Given the description of an element on the screen output the (x, y) to click on. 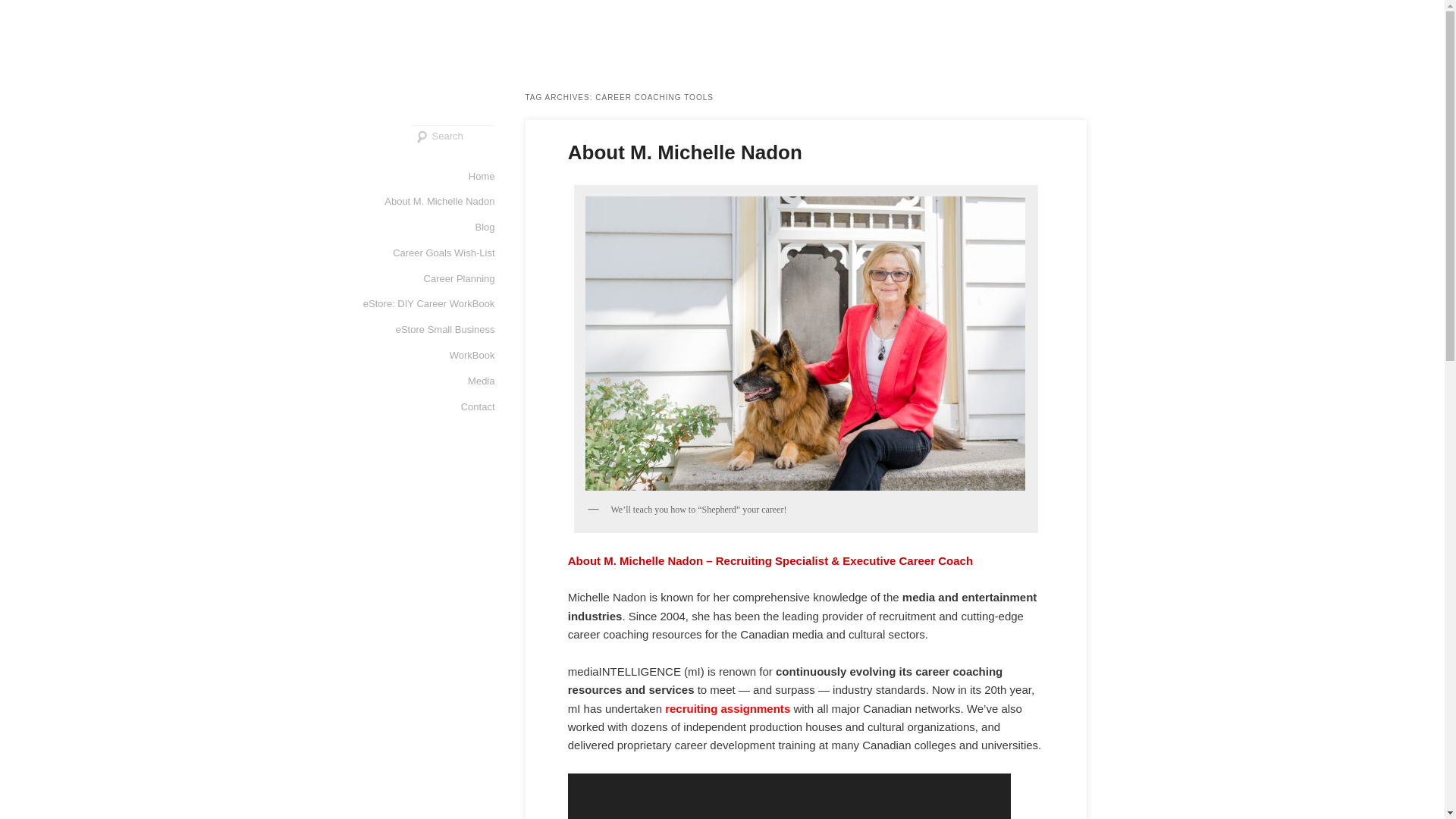
About M. Michelle Nadon (439, 201)
Home (481, 176)
Media (481, 380)
Contact (478, 406)
Blog (484, 227)
Career Goals Wish-List (444, 253)
recruiting assignments (727, 707)
Career Planning (459, 278)
About M. Michelle Nadon (684, 151)
eStore: DIY Career WorkBook (428, 303)
eStore Small Business WorkBook (426, 342)
Search (24, 8)
